Given the description of an element on the screen output the (x, y) to click on. 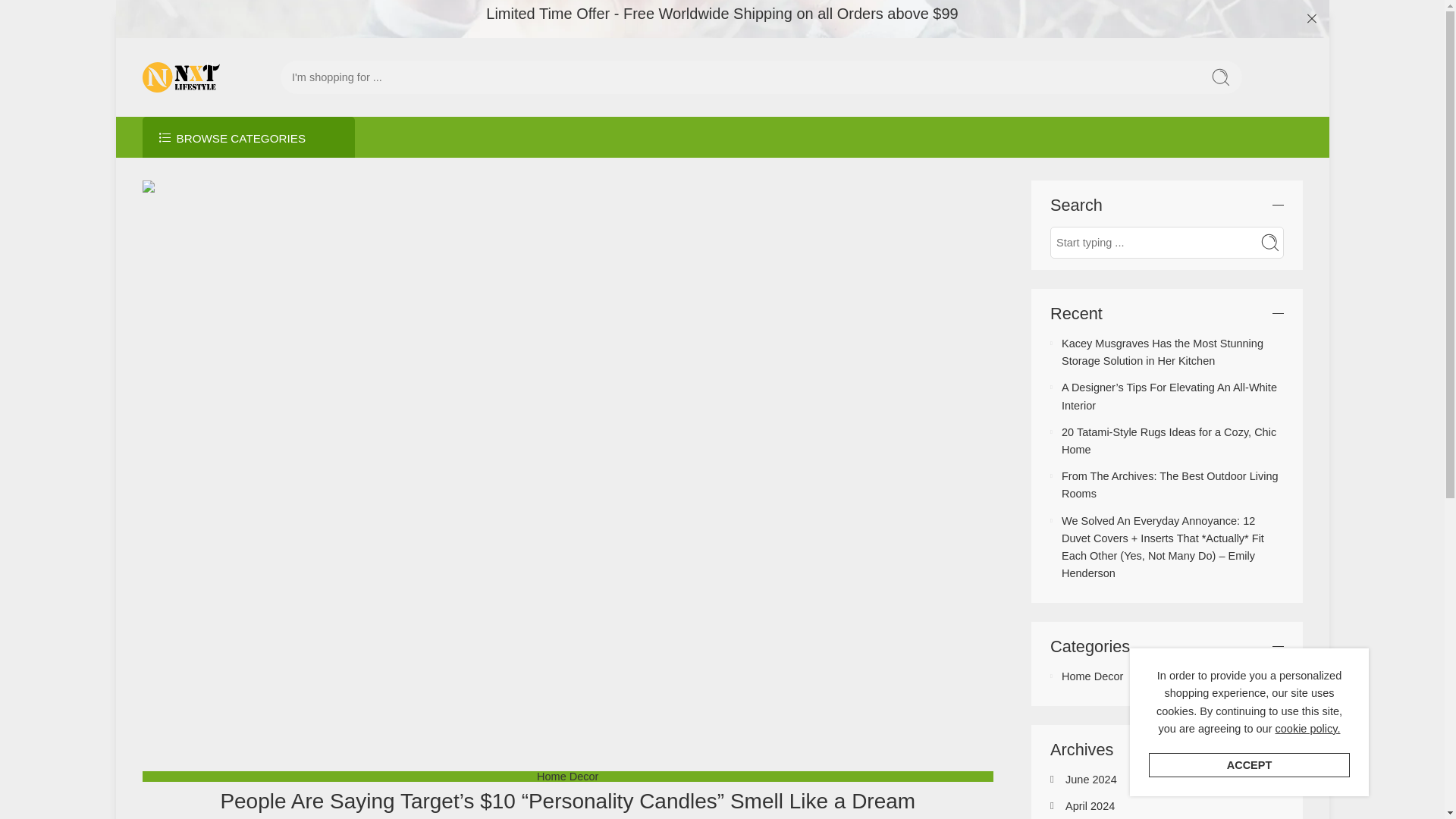
20 Tatami-Style Rugs Ideas for a Cozy, Chic Home (1168, 440)
Home Decor (567, 776)
Home Decor (1091, 676)
From The Archives: The Best Outdoor Living Rooms (1169, 484)
April 2024 (1090, 806)
June 2024 (1090, 779)
Close (1311, 18)
NxtLifestyle - Curated Elegance for Every Corner! (181, 77)
